Given the description of an element on the screen output the (x, y) to click on. 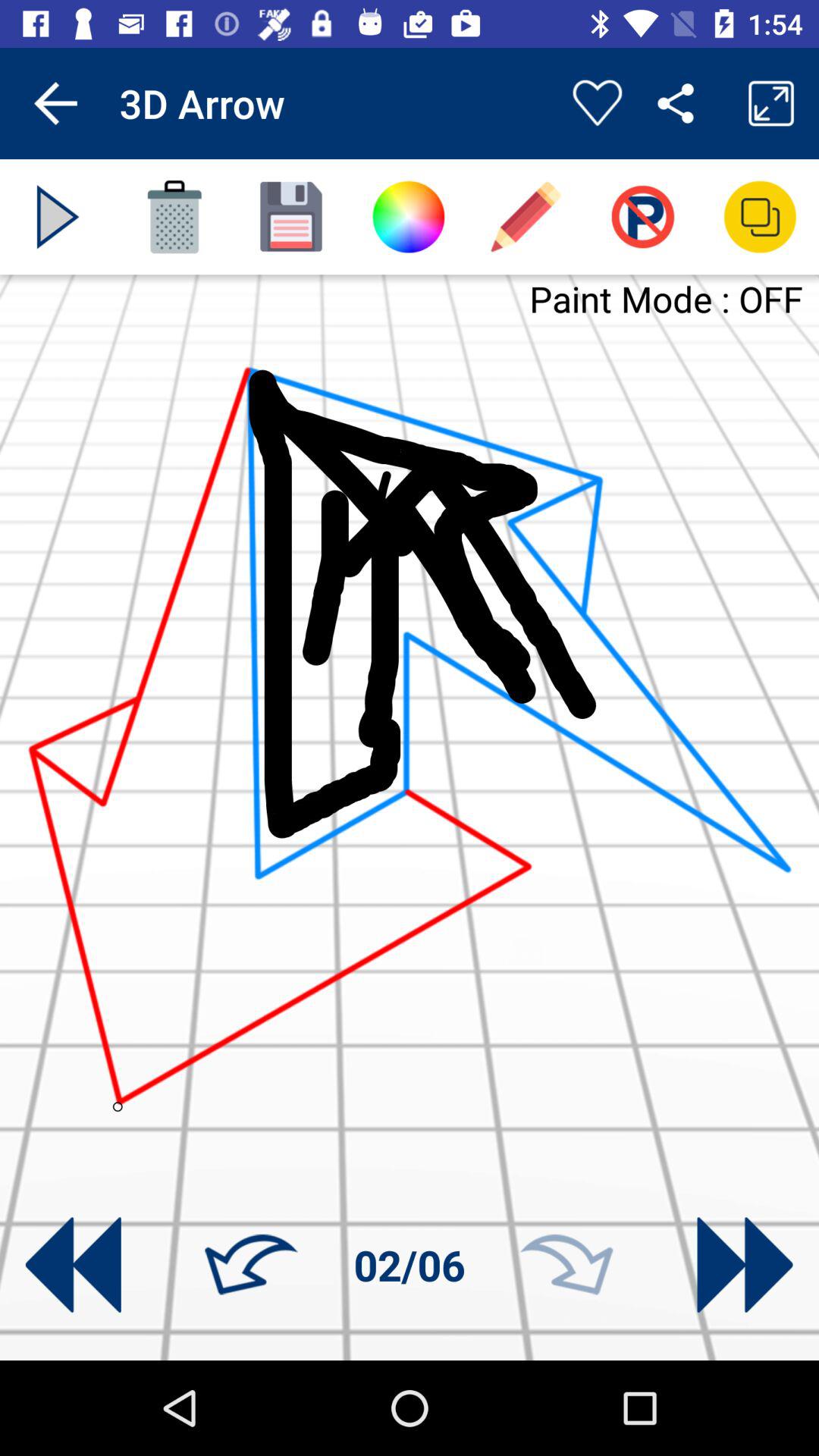
like drawing (597, 102)
